Given the description of an element on the screen output the (x, y) to click on. 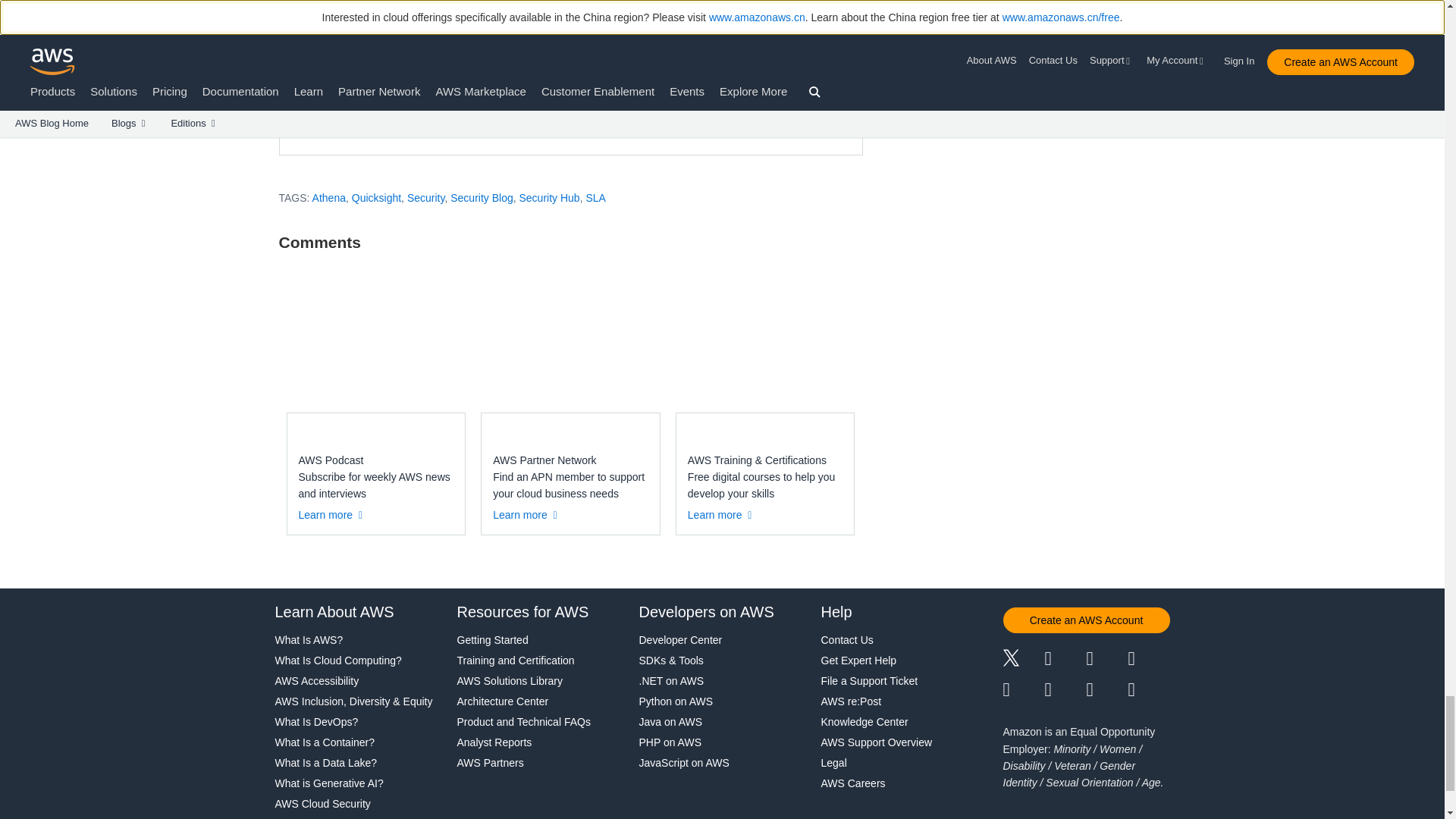
Instagram (1149, 659)
Twitch (1023, 690)
Email (1149, 690)
Podcast (1106, 690)
YouTube (1065, 690)
Linkedin (1106, 659)
Facebook (1065, 659)
Twitter (1023, 659)
